Given the description of an element on the screen output the (x, y) to click on. 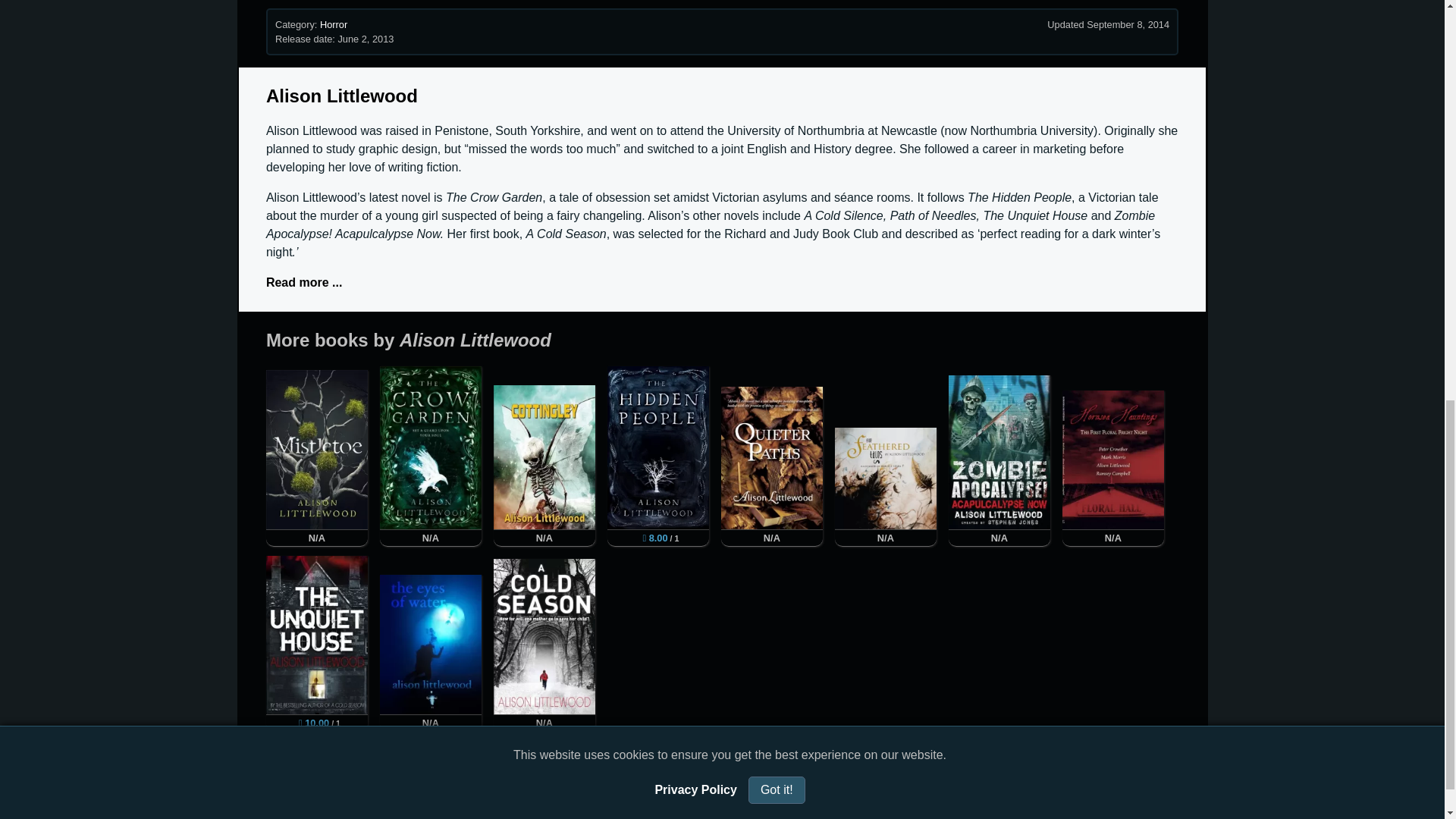
The Eyes of Water by Alison Littlewood (430, 644)
Mistletoe by Alison Littlewood (317, 449)
The Unquiet House by Alison Littlewood (317, 635)
Quieter Paths by Alison Littlewood (771, 457)
Horror (333, 24)
Cottingley by Alison Littlewood (544, 456)
Five Feathered Tales by Alison Littlewood (885, 478)
Alison Littlewood (341, 95)
The Hidden People by Alison Littlewood (658, 447)
The Crow Garden by Alison Littlewood (430, 447)
A Cold Season by Alison Littlewood (544, 636)
